Given the description of an element on the screen output the (x, y) to click on. 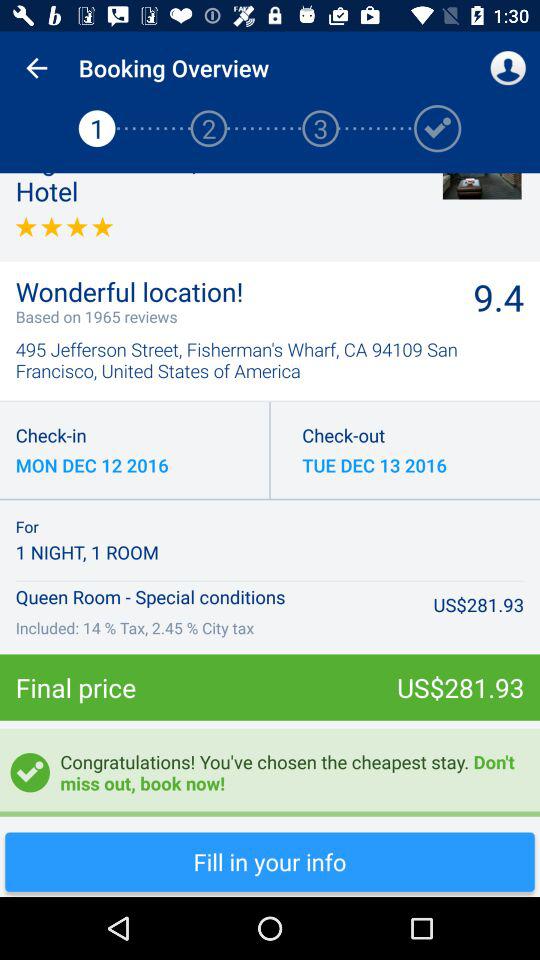
turn off the app to the right of argonaut hotel a item (481, 186)
